Given the description of an element on the screen output the (x, y) to click on. 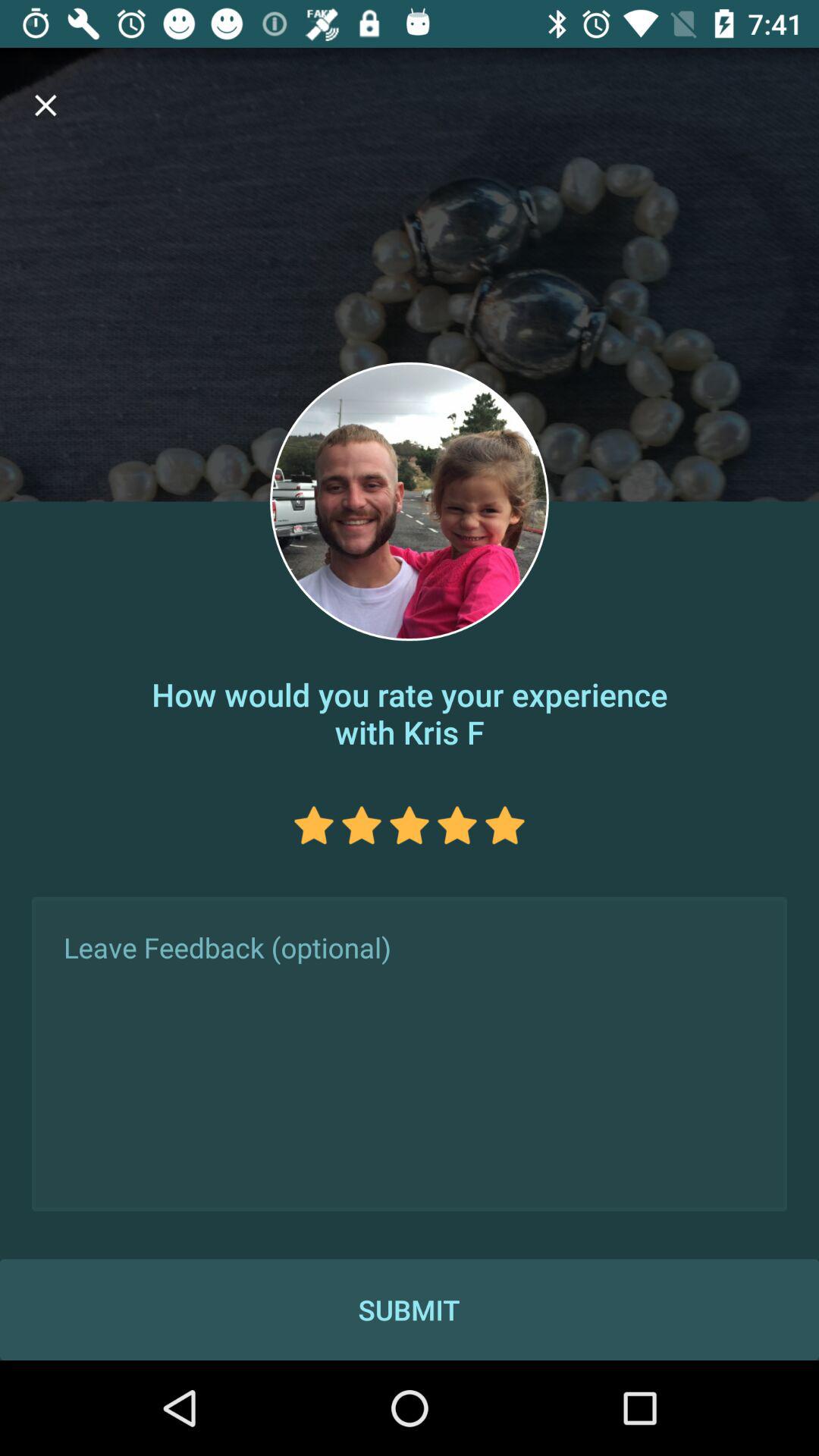
feedback toggle (409, 1053)
